Given the description of an element on the screen output the (x, y) to click on. 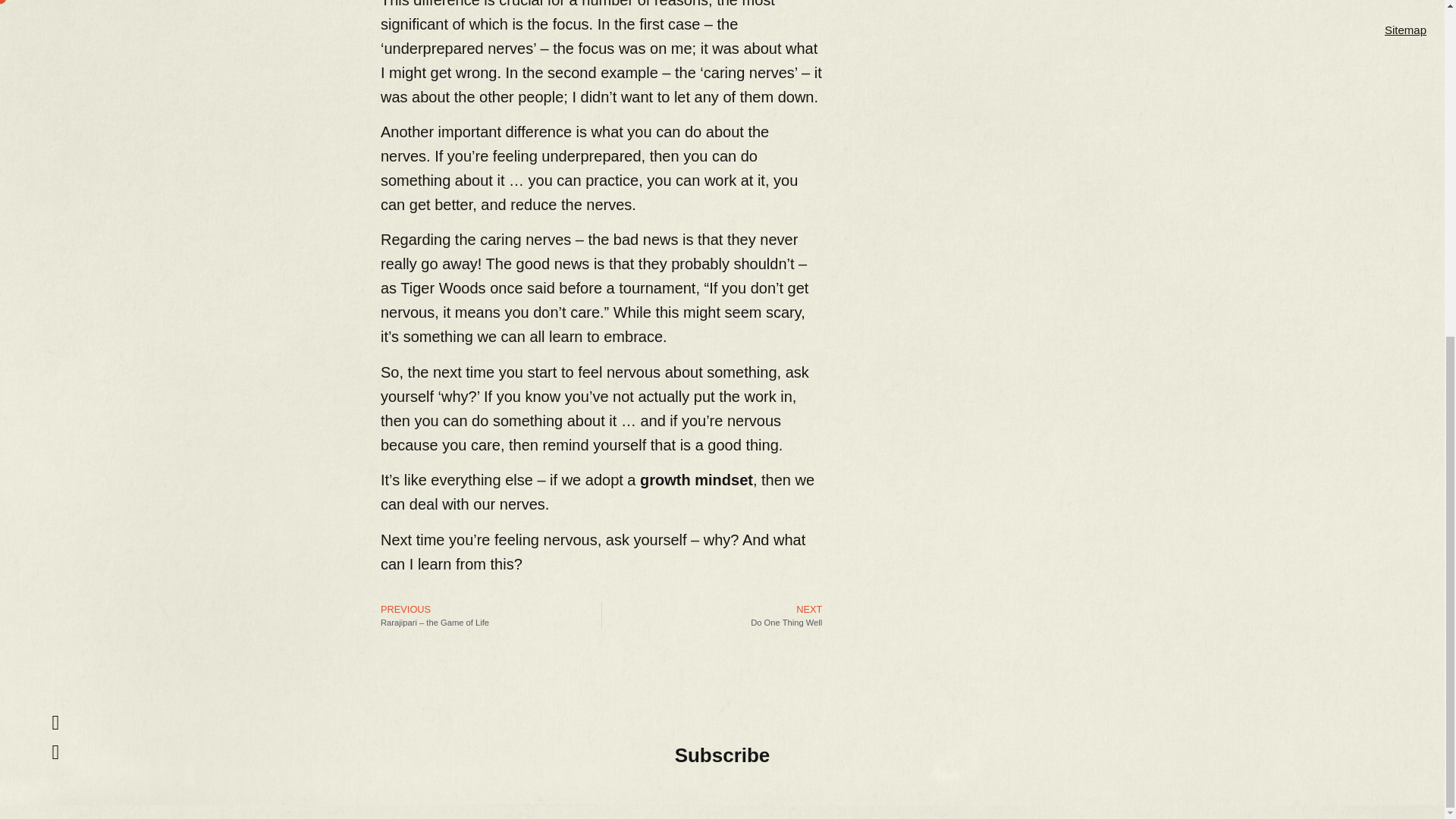
Subscribe (712, 615)
growth mindset (722, 754)
